Given the description of an element on the screen output the (x, y) to click on. 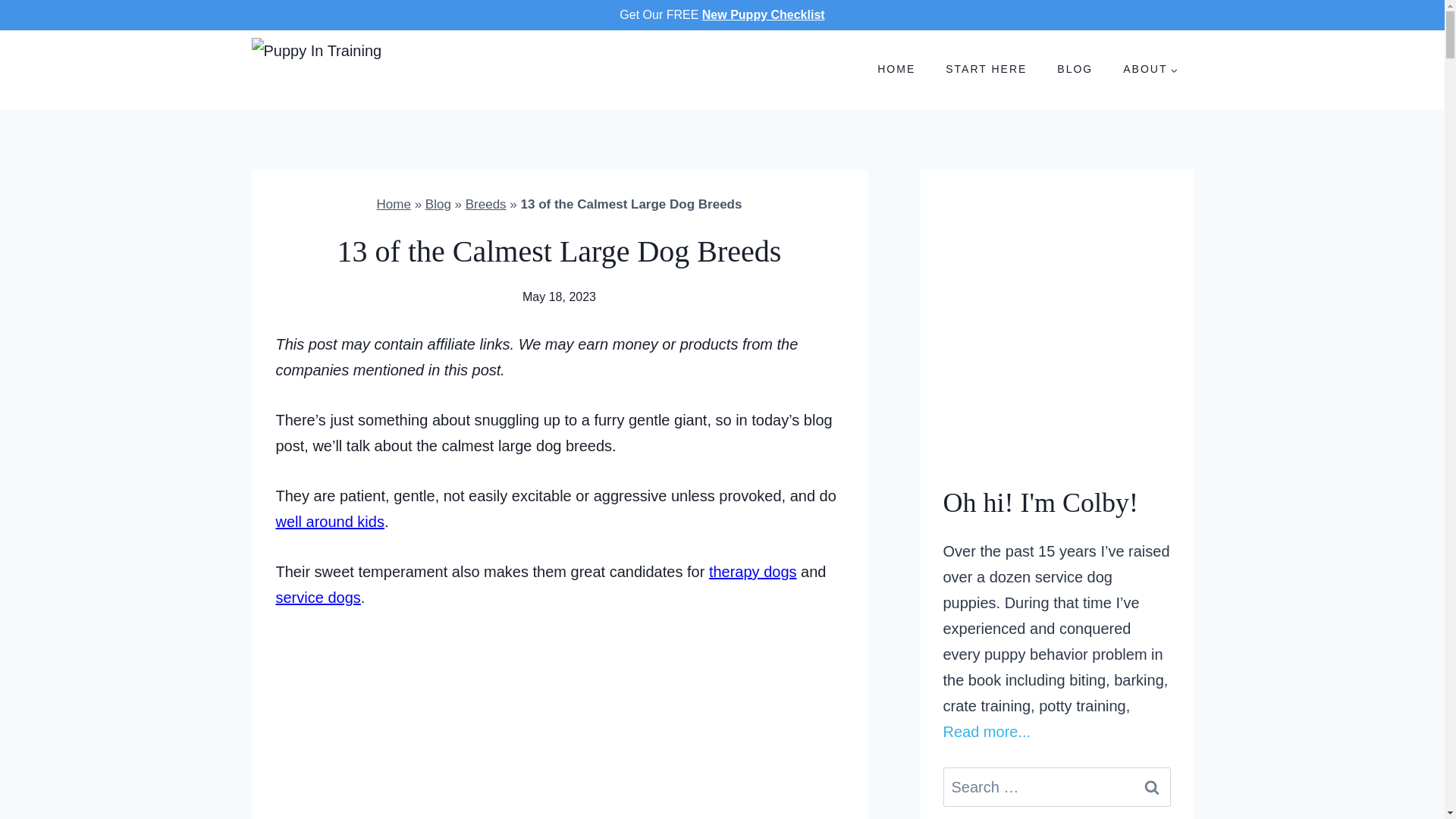
service dogs (318, 597)
HOME (895, 69)
Search (1151, 786)
New Puppy Checklist (763, 14)
well around kids (330, 521)
ABOUT (1150, 69)
Search (1151, 786)
START HERE (986, 69)
Blog (438, 204)
Home (393, 204)
Breeds (485, 204)
therapy dogs (752, 571)
BLOG (1075, 69)
